Given the description of an element on the screen output the (x, y) to click on. 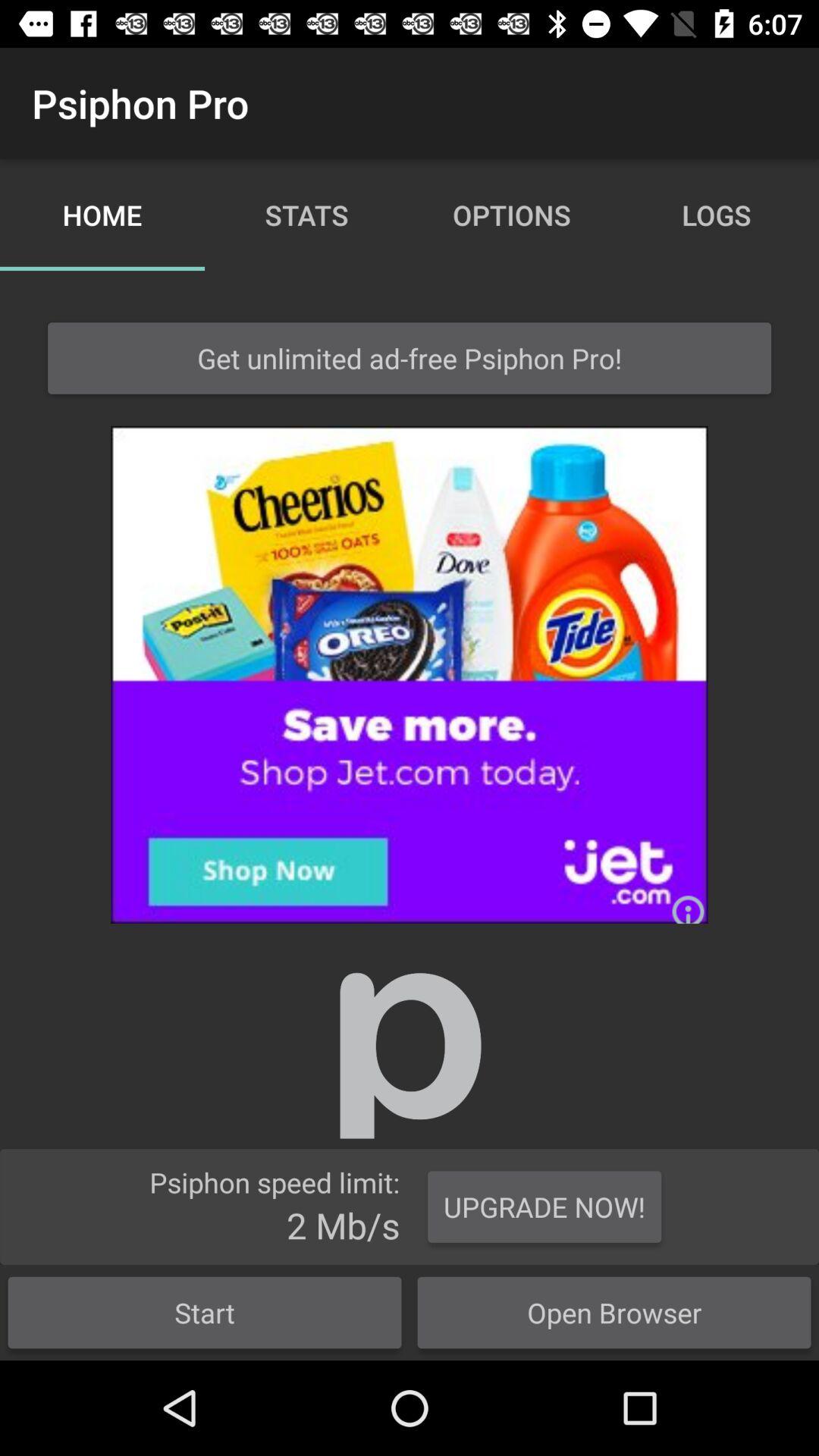
toggle to advertisement box (409, 674)
